Given the description of an element on the screen output the (x, y) to click on. 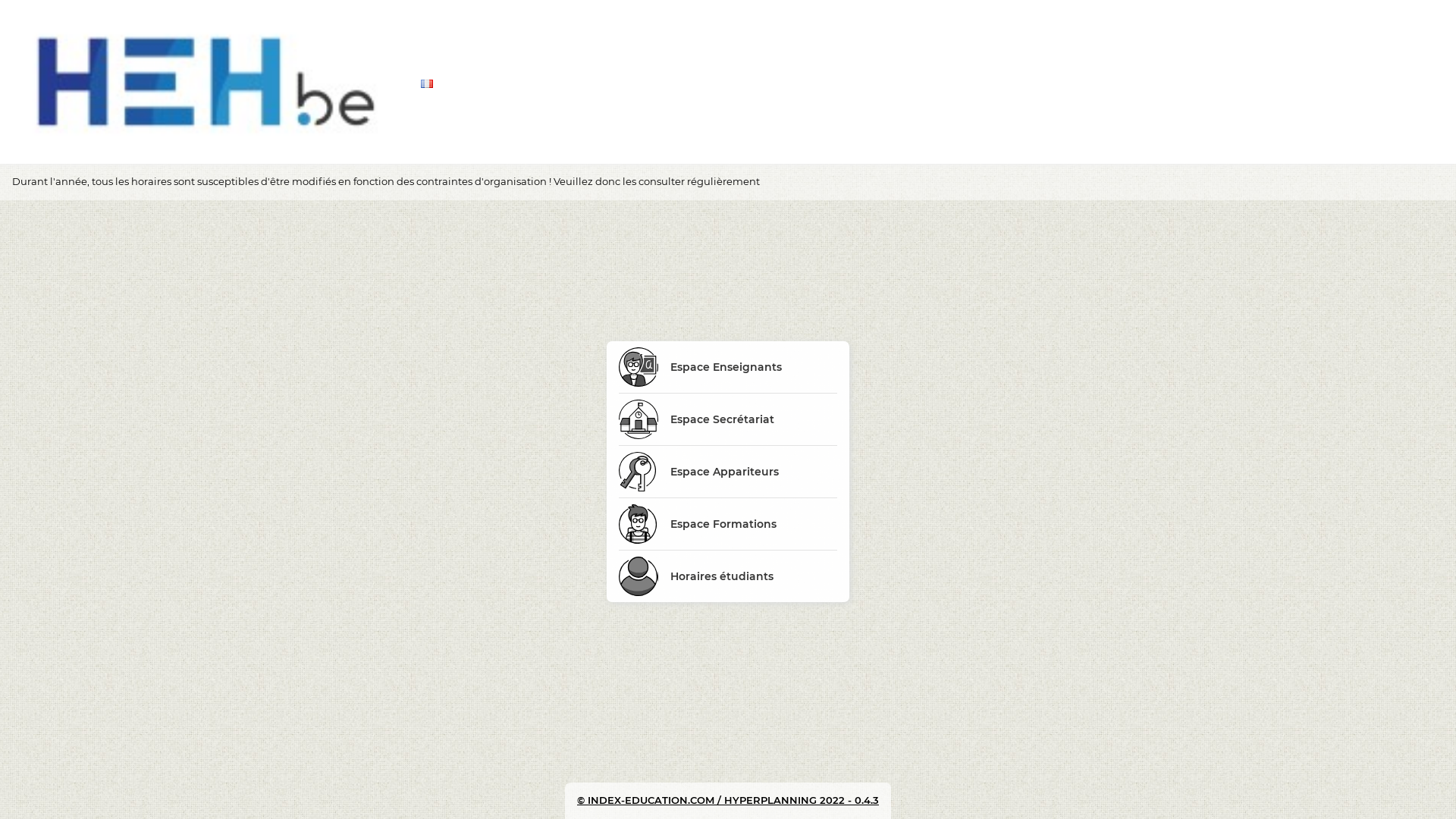
Espace Formations Element type: text (727, 523)
Changer la langue Element type: hover (428, 83)
Espace Appariteurs Element type: text (727, 471)
Espace Enseignants Element type: text (727, 366)
